Given the description of an element on the screen output the (x, y) to click on. 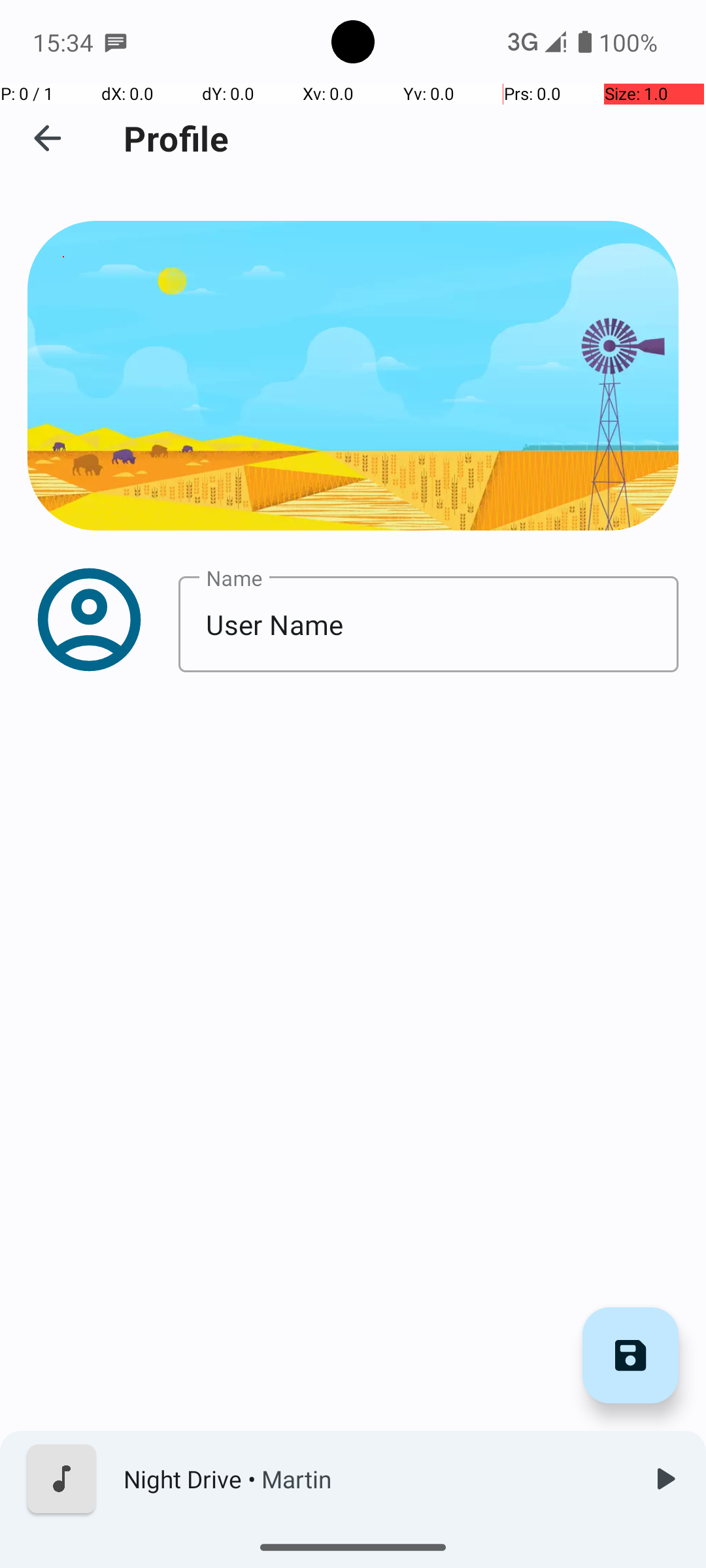
Profile Element type: android.widget.TextView (176, 137)
Night Drive • Martin Element type: android.widget.TextView (372, 1478)
